Given the description of an element on the screen output the (x, y) to click on. 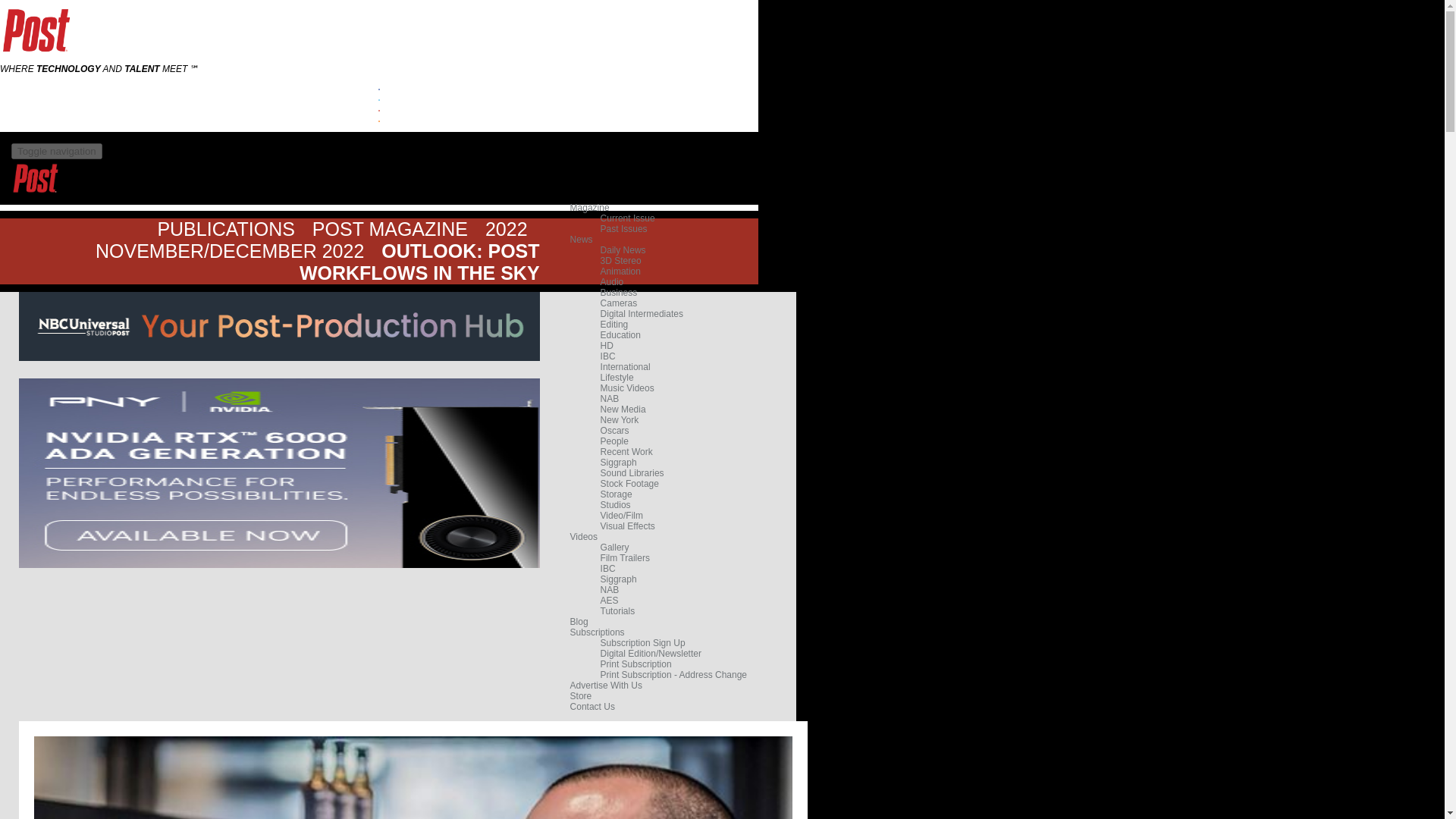
New York (619, 419)
International (624, 366)
Visual Effects (627, 525)
NAB (609, 398)
New Media (622, 409)
Videos (583, 536)
Studios (614, 504)
People (613, 440)
Stock Footage (629, 483)
Gallery (613, 547)
Business (618, 292)
News (581, 239)
Digital Intermediates (640, 313)
Animation (619, 271)
Oscars (613, 430)
